Given the description of an element on the screen output the (x, y) to click on. 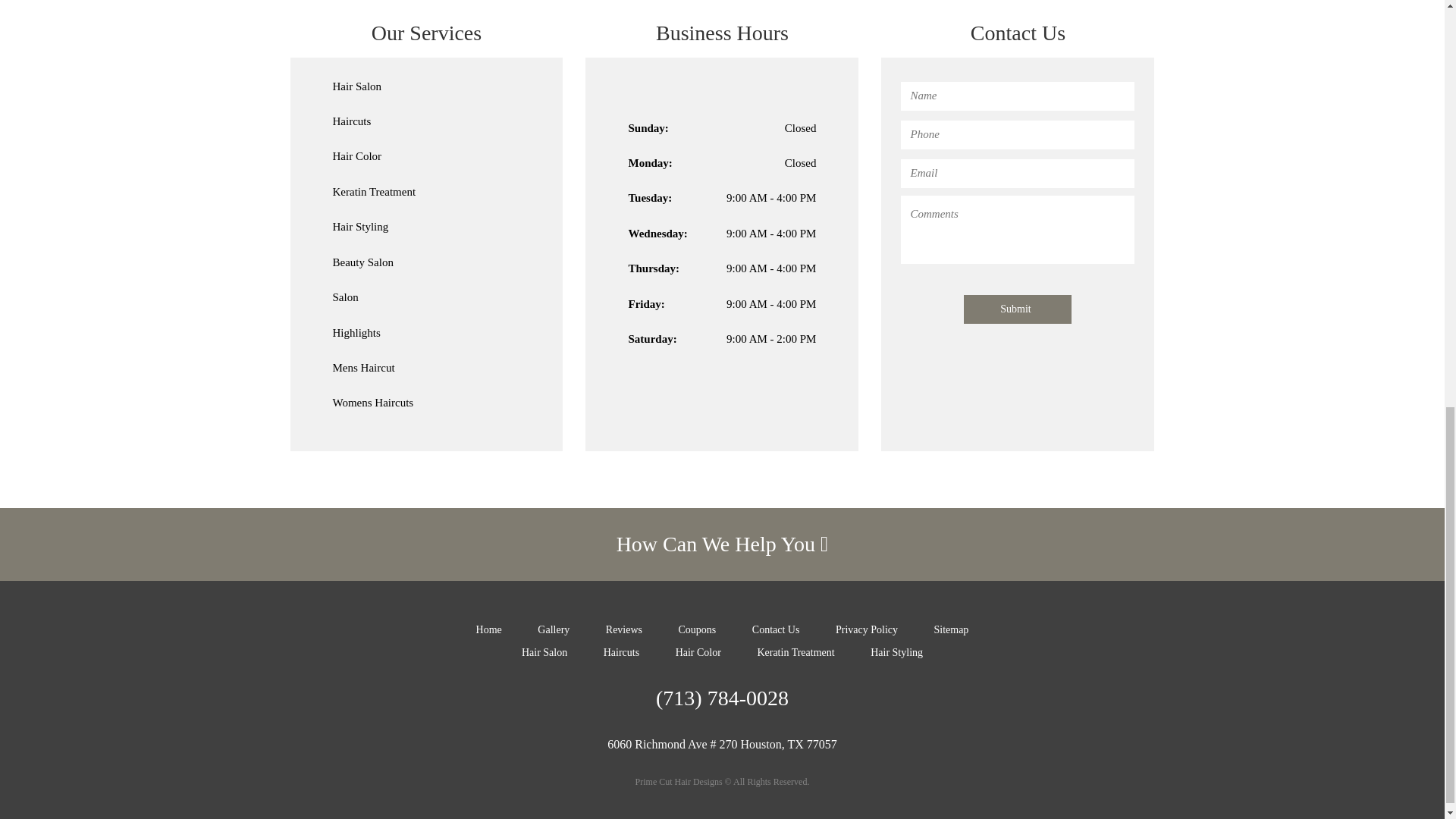
Hair Color (356, 155)
Gallery (553, 629)
Highlights (355, 332)
Privacy Policy (866, 629)
Salon (344, 297)
Coupons (697, 629)
Submit (1017, 308)
Reviews (623, 629)
Contact Us (775, 629)
Reviews (623, 629)
Submit (1017, 308)
Keratin Treatment (372, 191)
Hair Salon (356, 86)
Hair Salon (544, 652)
Beauty Salon (362, 262)
